Given the description of an element on the screen output the (x, y) to click on. 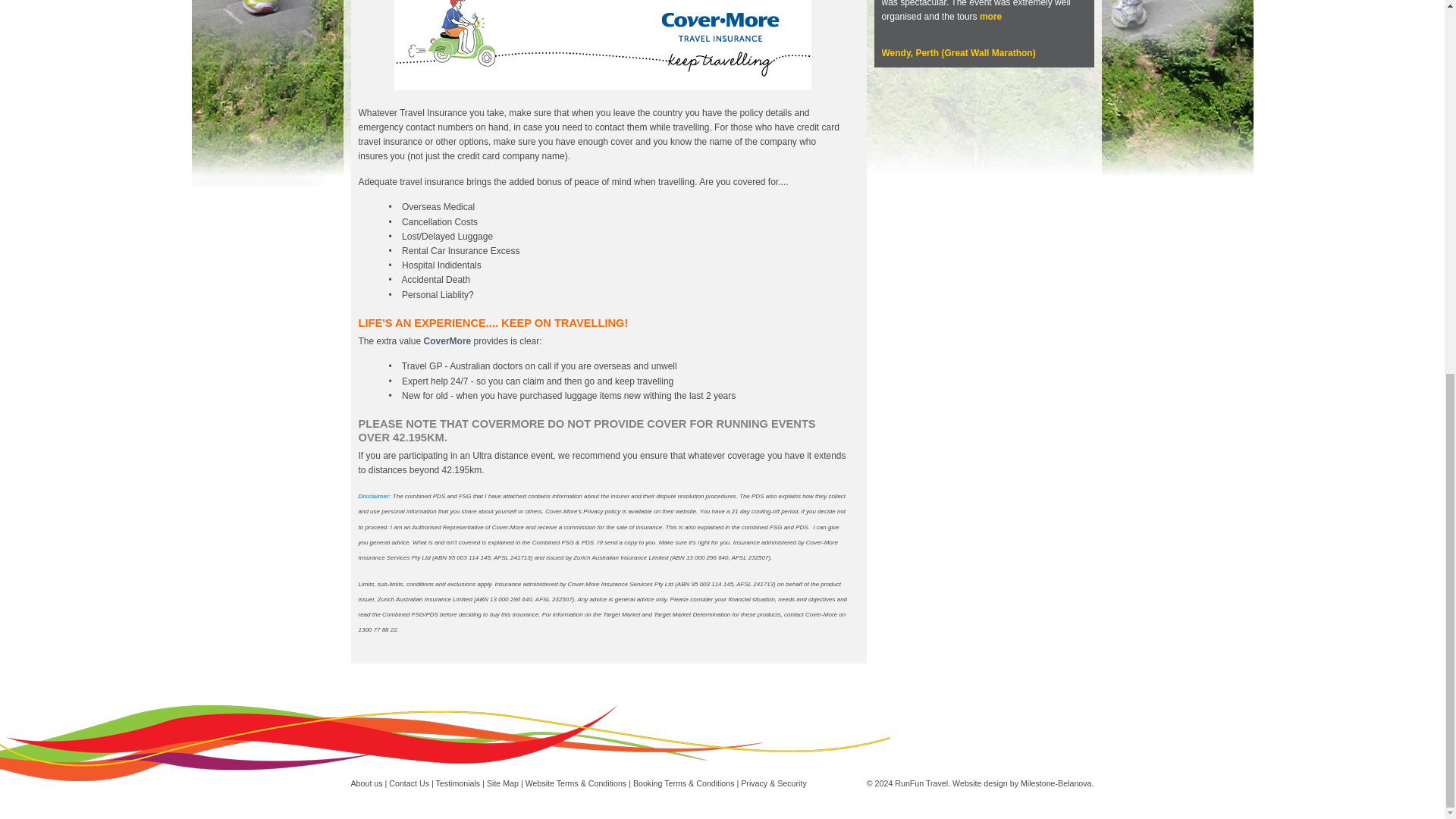
CoverMore online quote (602, 86)
more (990, 16)
Click for more testimonials (957, 52)
